Given the description of an element on the screen output the (x, y) to click on. 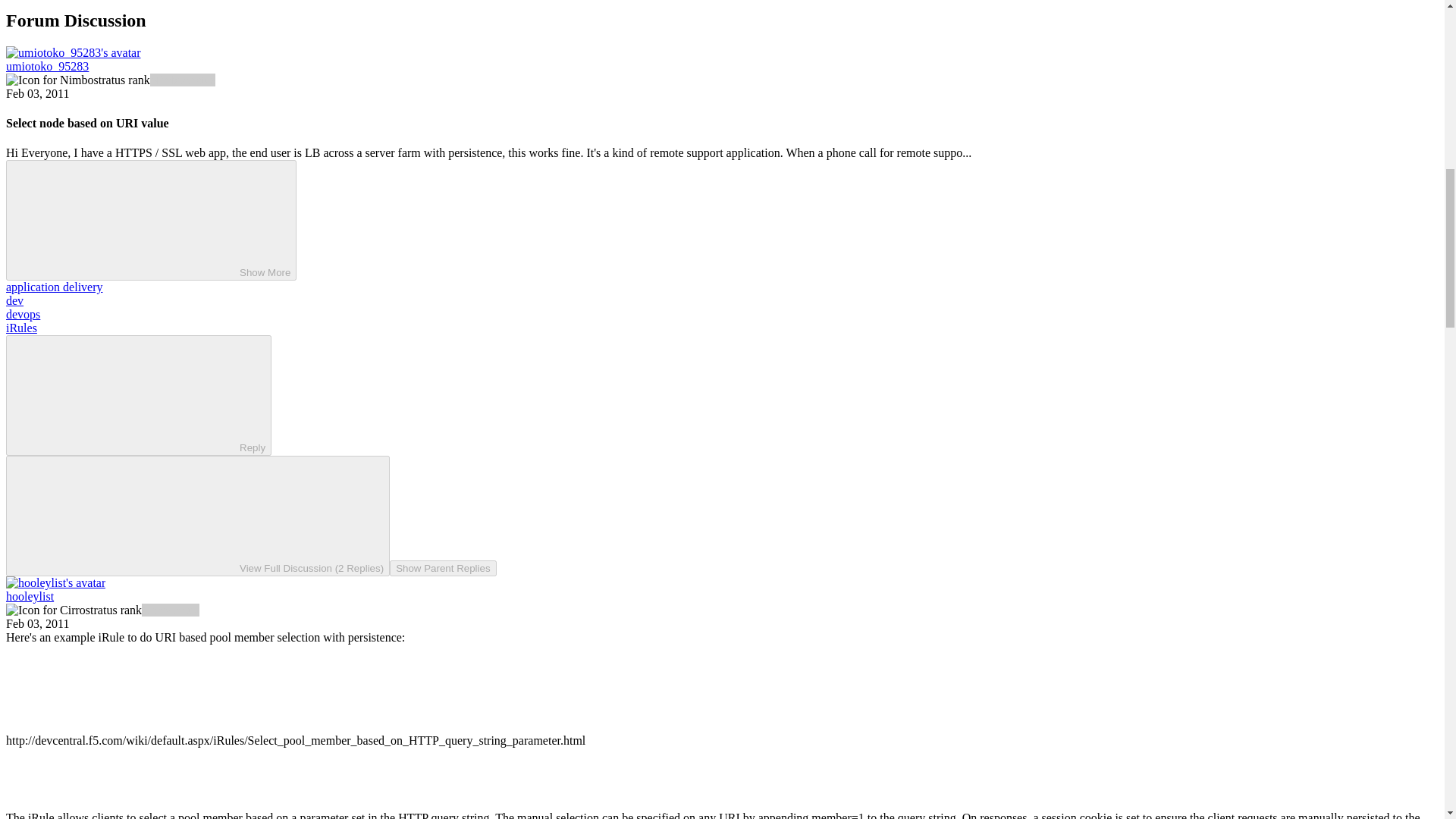
dev (14, 300)
Show More (151, 219)
application delivery (54, 286)
hooleylist (29, 595)
iRules (21, 327)
February 3, 2011 at 10:20 PM (36, 623)
February 3, 2011 at 7:54 PM (36, 92)
devops (22, 314)
Show Parent Replies (443, 568)
Reply (125, 394)
ReplyReply (137, 394)
